Given the description of an element on the screen output the (x, y) to click on. 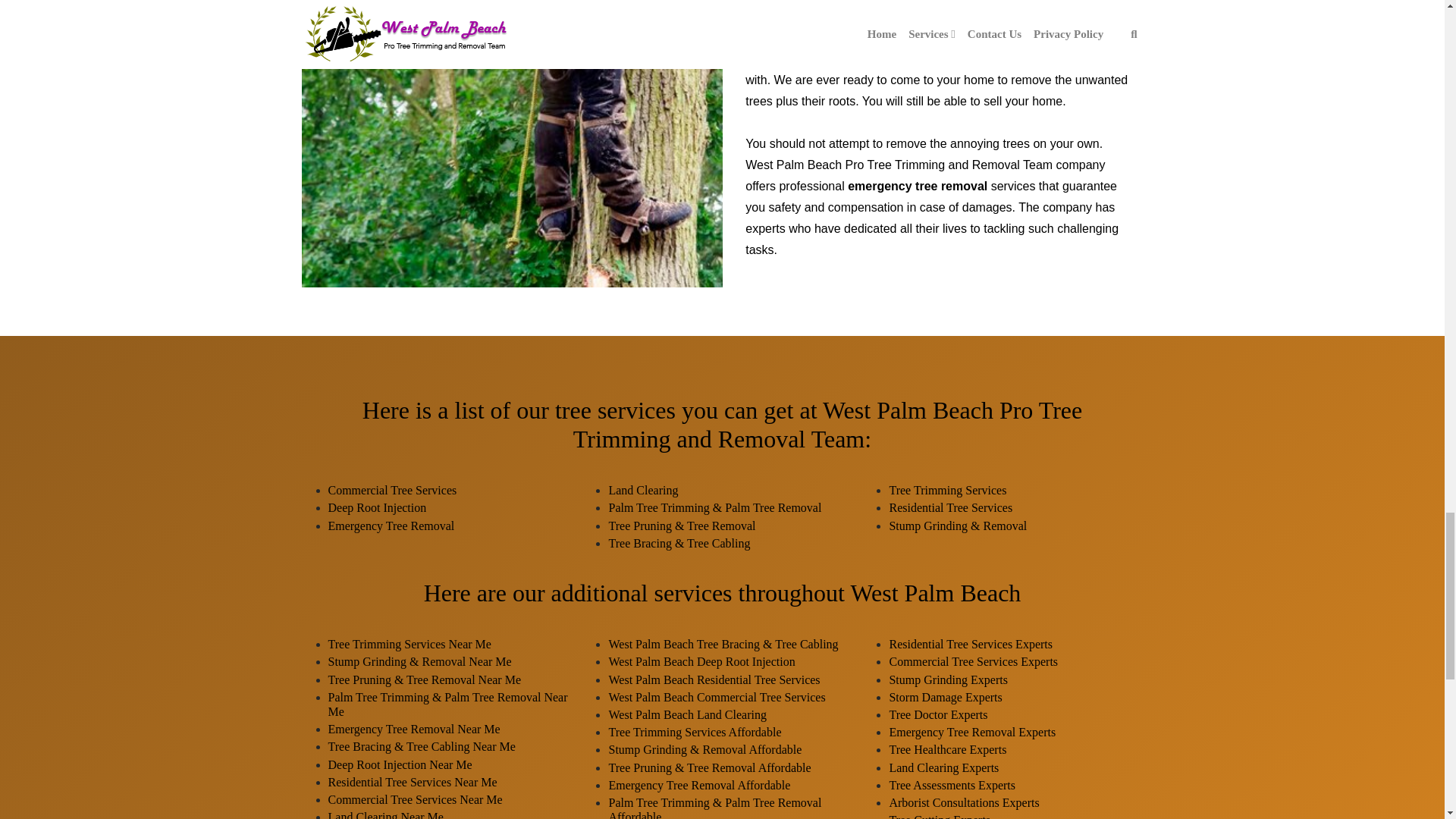
Tree Trimming Services (947, 490)
Commercial Tree Services (392, 490)
Residential Tree Services (949, 507)
Emergency Tree Removal Near Me (413, 728)
Emergency Tree Removal (390, 525)
Deep Root Injection Near Me (399, 764)
Tree Trimming Services Near Me (408, 644)
Land Clearing (643, 490)
emergency tree removal (917, 185)
Deep Root Injection (376, 507)
